Given the description of an element on the screen output the (x, y) to click on. 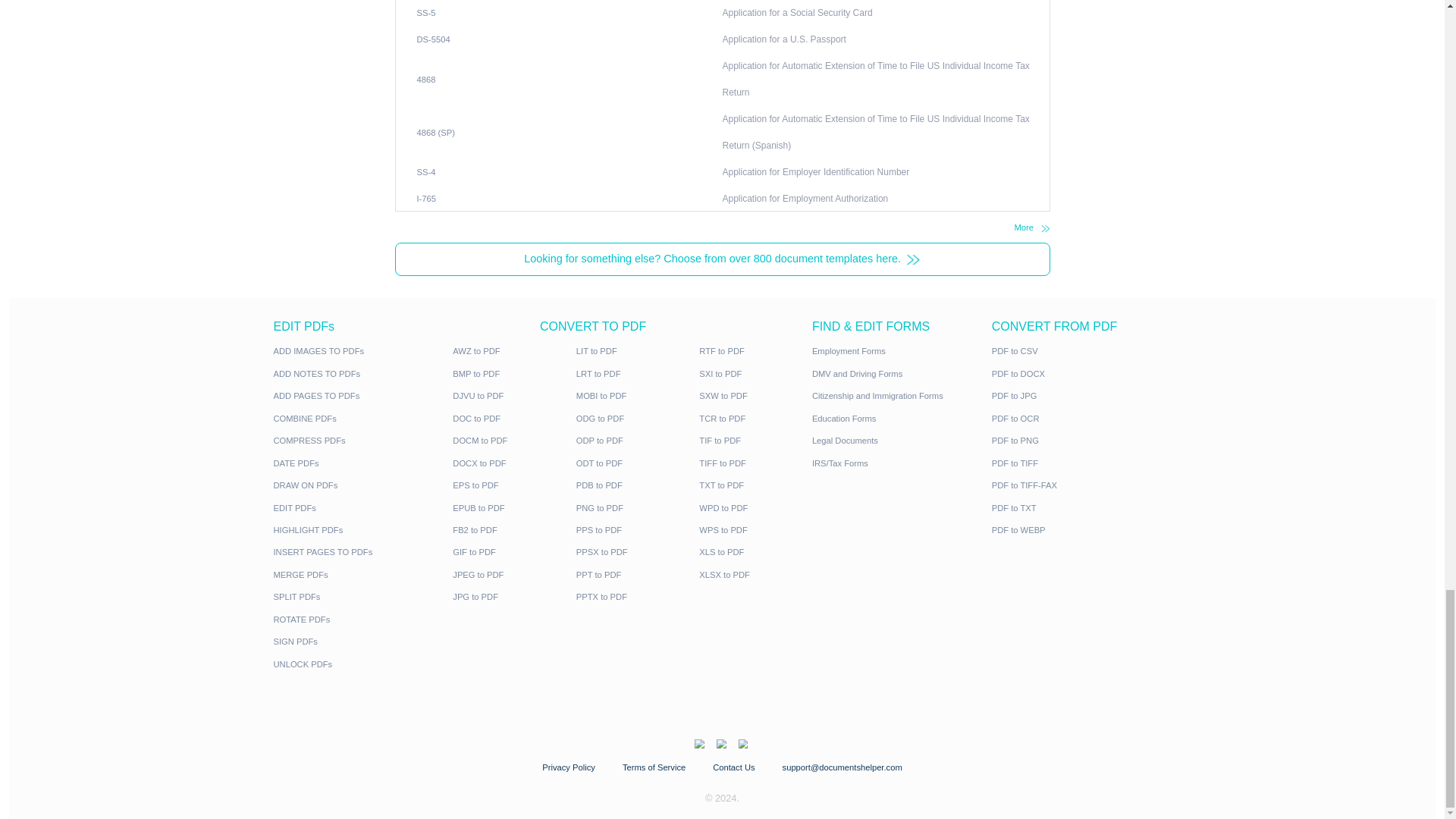
DS-5504 (541, 594)
SS-5 (532, 561)
I-134 (532, 495)
Get Form now (607, 262)
4868 (532, 644)
Click here to edit (578, 190)
SS-4 (532, 760)
Application for a U.S. Passport (980, 594)
I-765 (532, 794)
Affidavit of Support (950, 495)
